Given the description of an element on the screen output the (x, y) to click on. 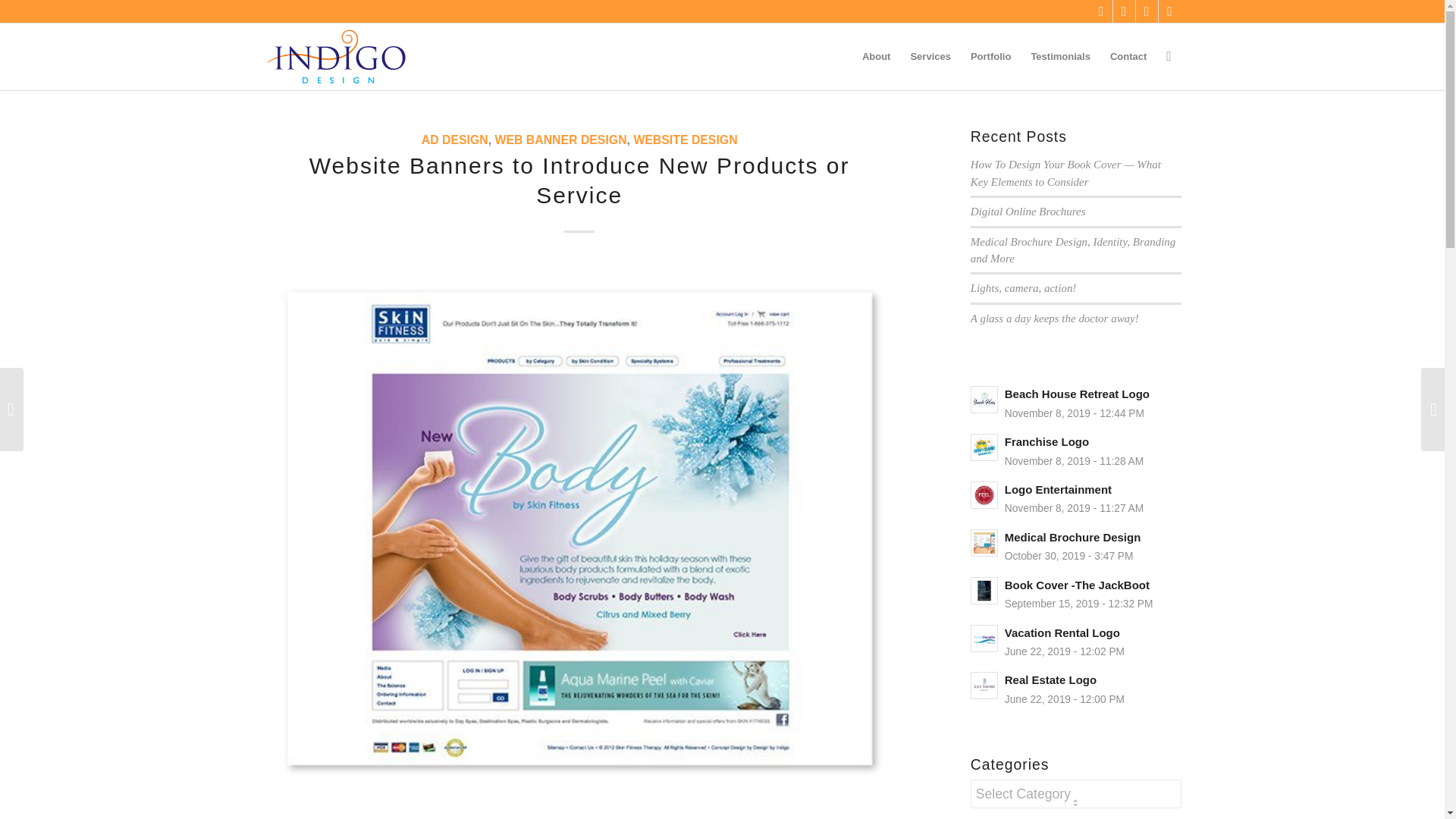
WEB BANNER DESIGN (560, 139)
Facebook (1101, 11)
Portfolio (990, 56)
WEBSITE DESIGN (684, 139)
Pinterest (1146, 11)
LinkedIn (1169, 11)
Services (929, 56)
AD DESIGN (454, 139)
